Given the description of an element on the screen output the (x, y) to click on. 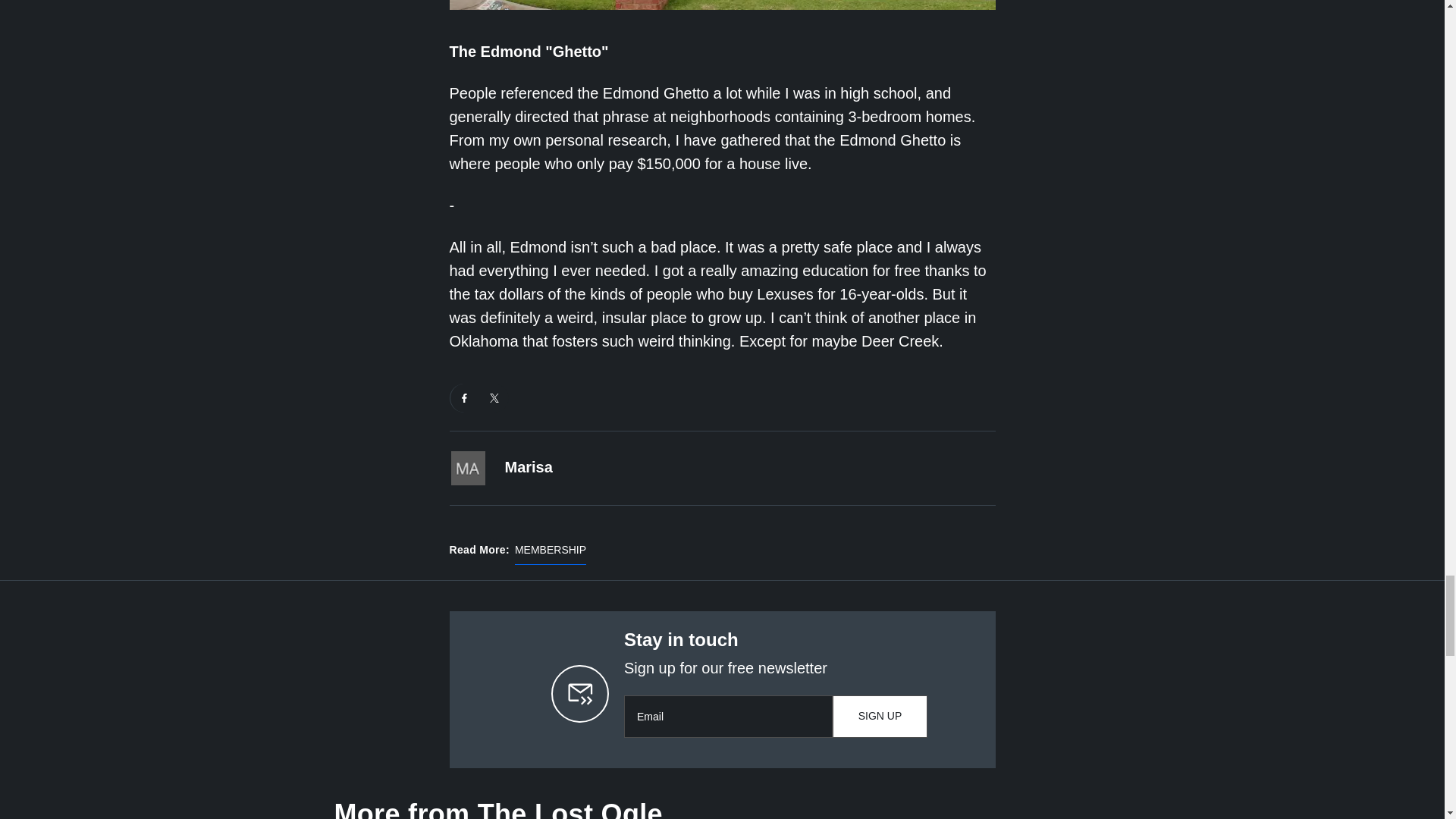
Share on Facebook (464, 398)
Marisa (529, 467)
MEMBERSHIP (550, 553)
